Given the description of an element on the screen output the (x, y) to click on. 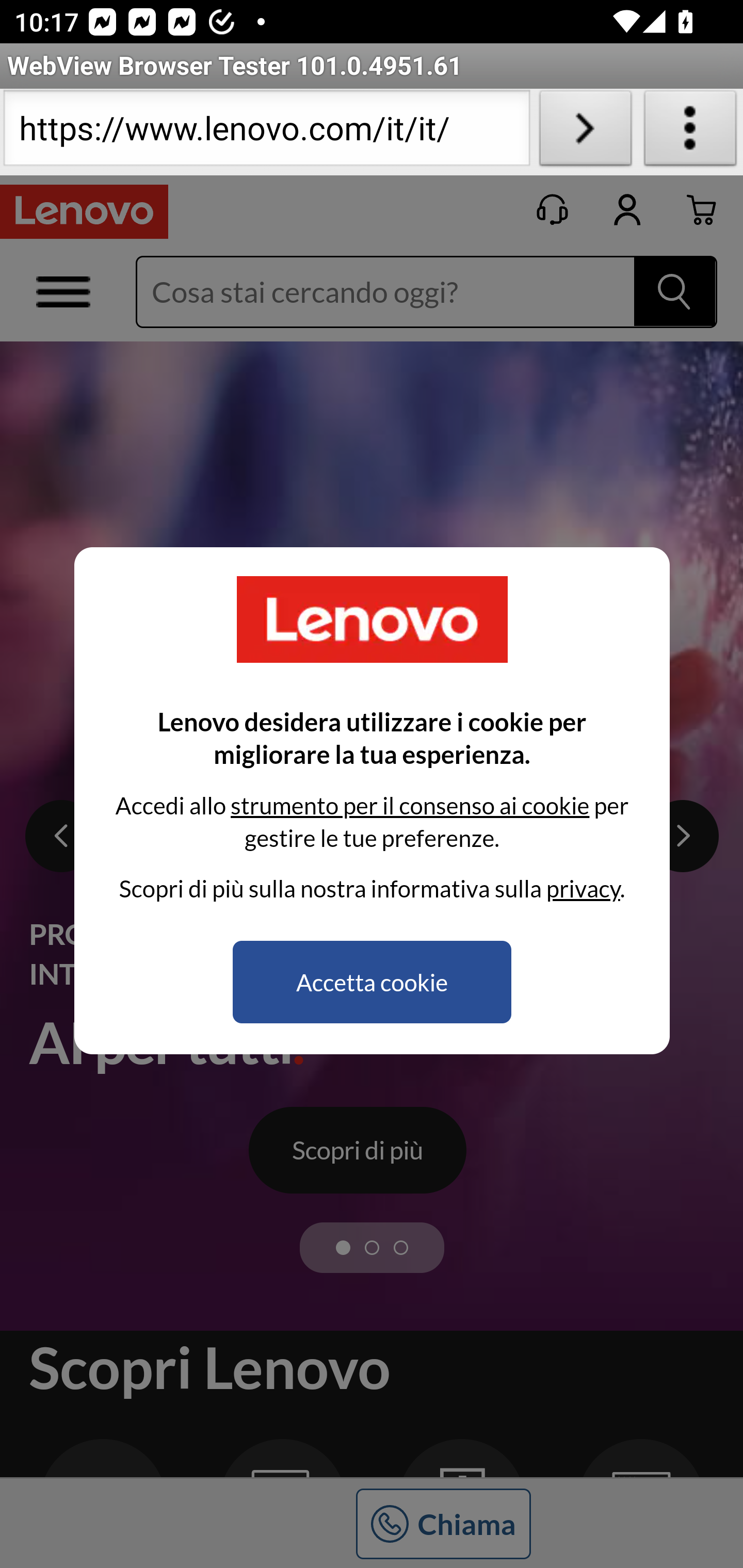
https://www.lenovo.com/it/it/ (266, 132)
Load URL (585, 132)
About WebView (690, 132)
strumento per il consenso ai cookie (408, 805)
Previous slide (61, 836)
Next slide (682, 836)
privacy (583, 888)
Accetta cookie (371, 981)
